Given the description of an element on the screen output the (x, y) to click on. 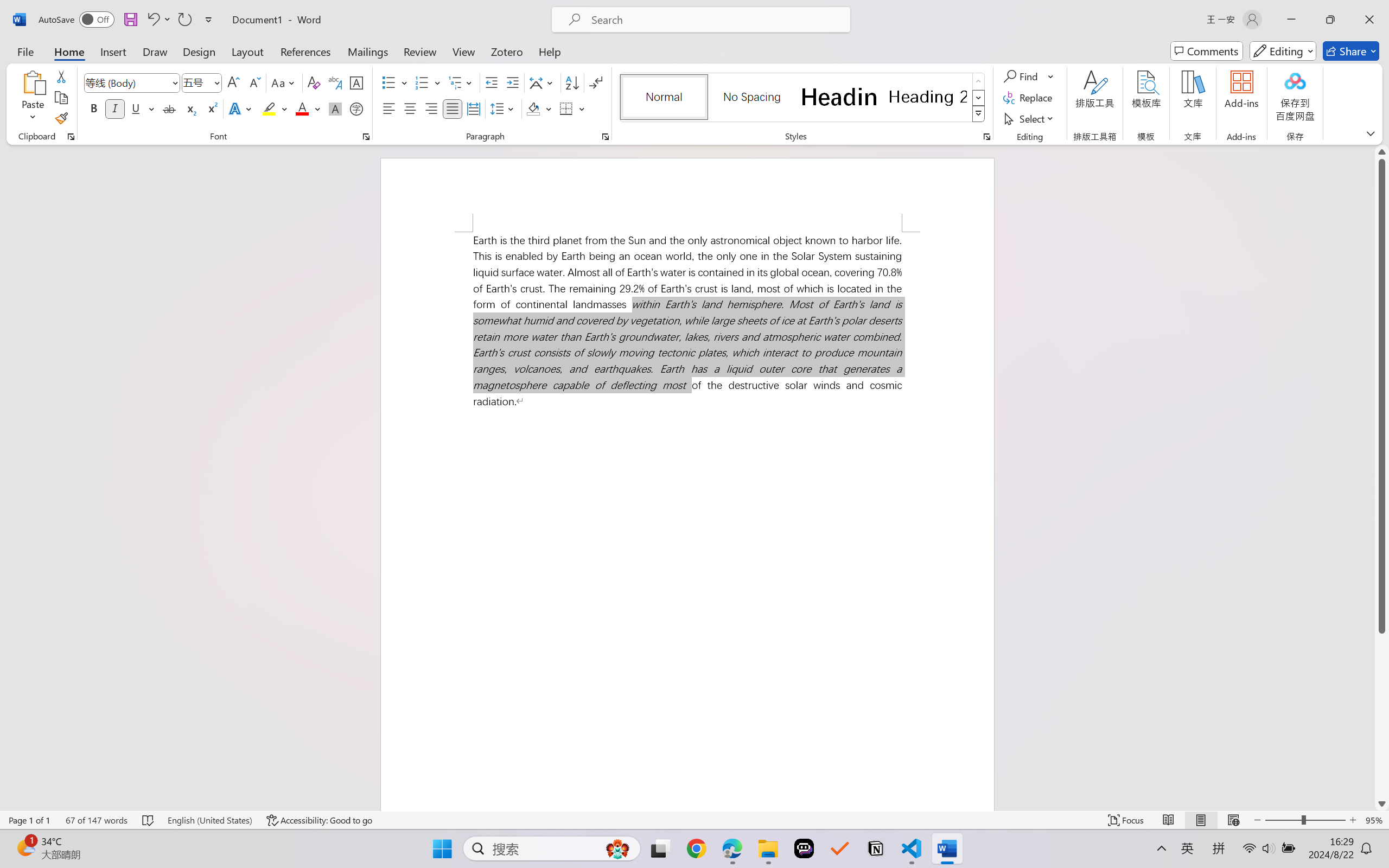
Shading (539, 108)
Italic (115, 108)
Font... (365, 136)
Strikethrough (169, 108)
Bold (94, 108)
Change Case (284, 82)
Asian Layout (542, 82)
Character Shading (334, 108)
Phonetic Guide... (334, 82)
